Given the description of an element on the screen output the (x, y) to click on. 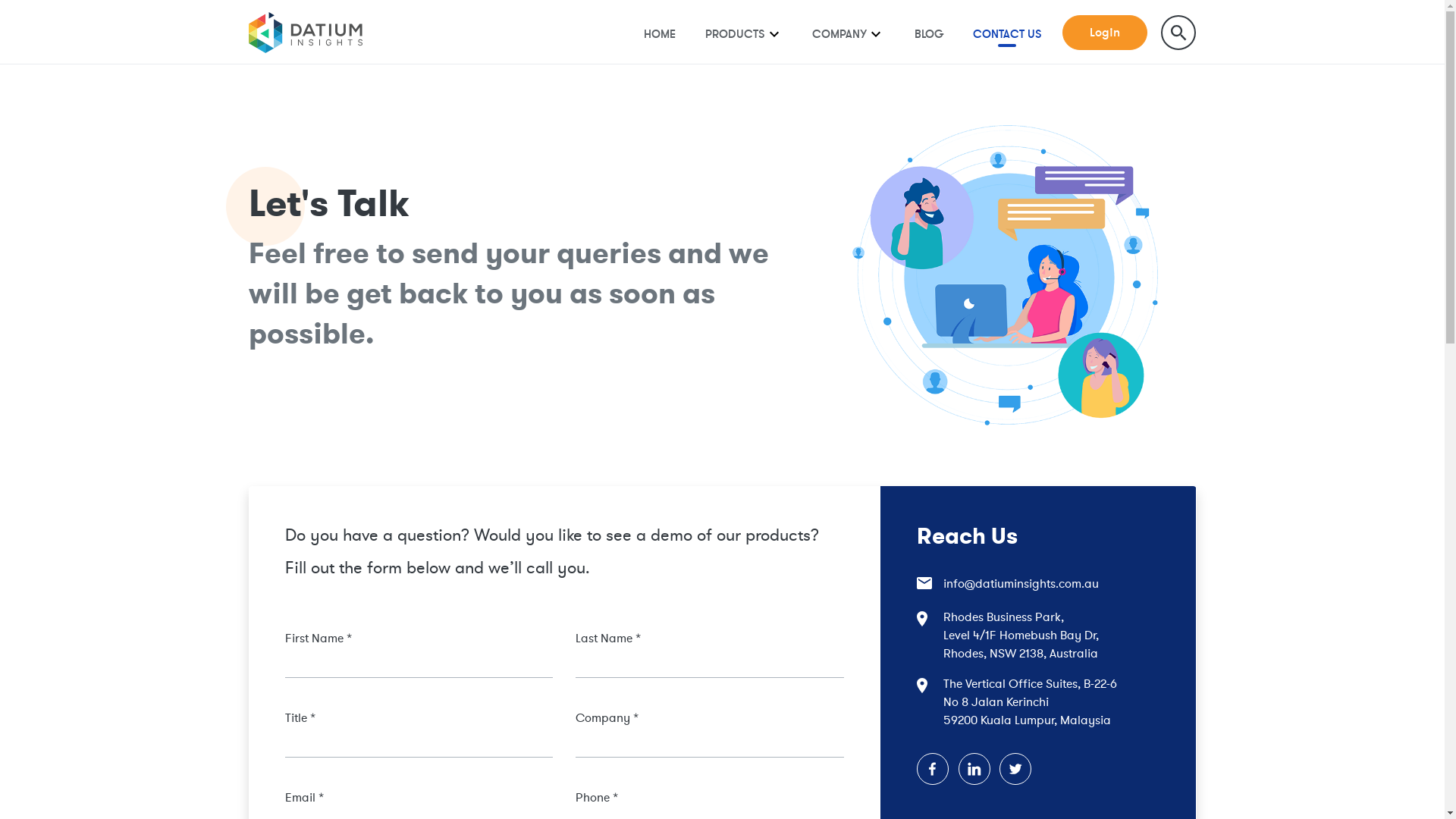
info@datiuminsights.com.au Element type: text (1038, 583)
Subscribe Element type: text (721, 537)
PRODUCTS Element type: text (735, 33)
HOME Element type: text (659, 33)
BLOG Element type: text (929, 33)
CONTACT US Element type: text (1006, 33)
COMPANY Element type: text (839, 33)
Login Element type: text (1104, 32)
